Given the description of an element on the screen output the (x, y) to click on. 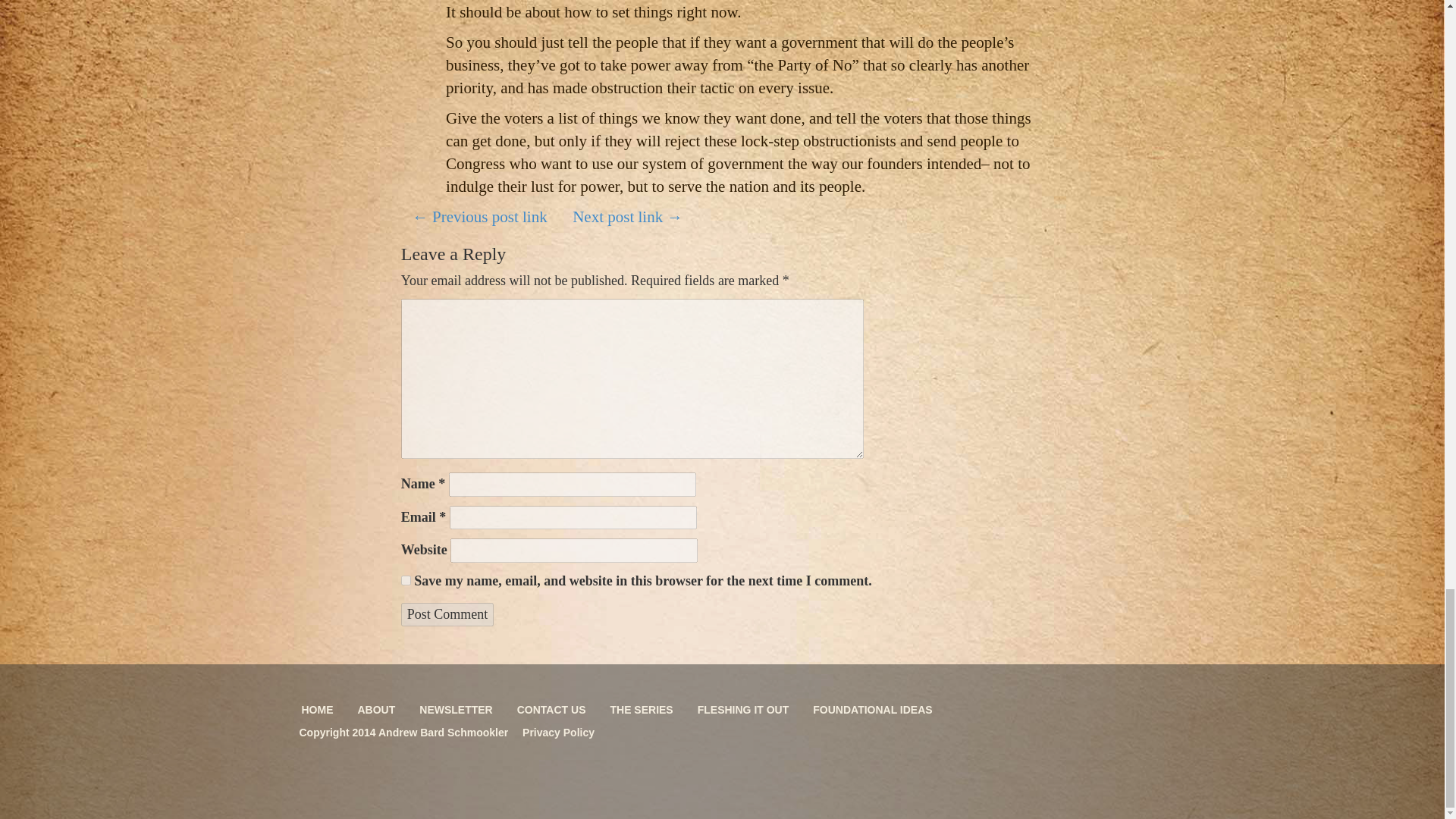
Post Comment (448, 614)
NEWSLETTER (455, 710)
HOME (316, 710)
yes (405, 580)
ABOUT (376, 710)
THE SERIES (641, 710)
FLESHING IT OUT (742, 710)
CONTACT US (550, 710)
Post Comment (448, 614)
Privacy Policy (552, 732)
FOUNDATIONAL IDEAS (872, 710)
